Given the description of an element on the screen output the (x, y) to click on. 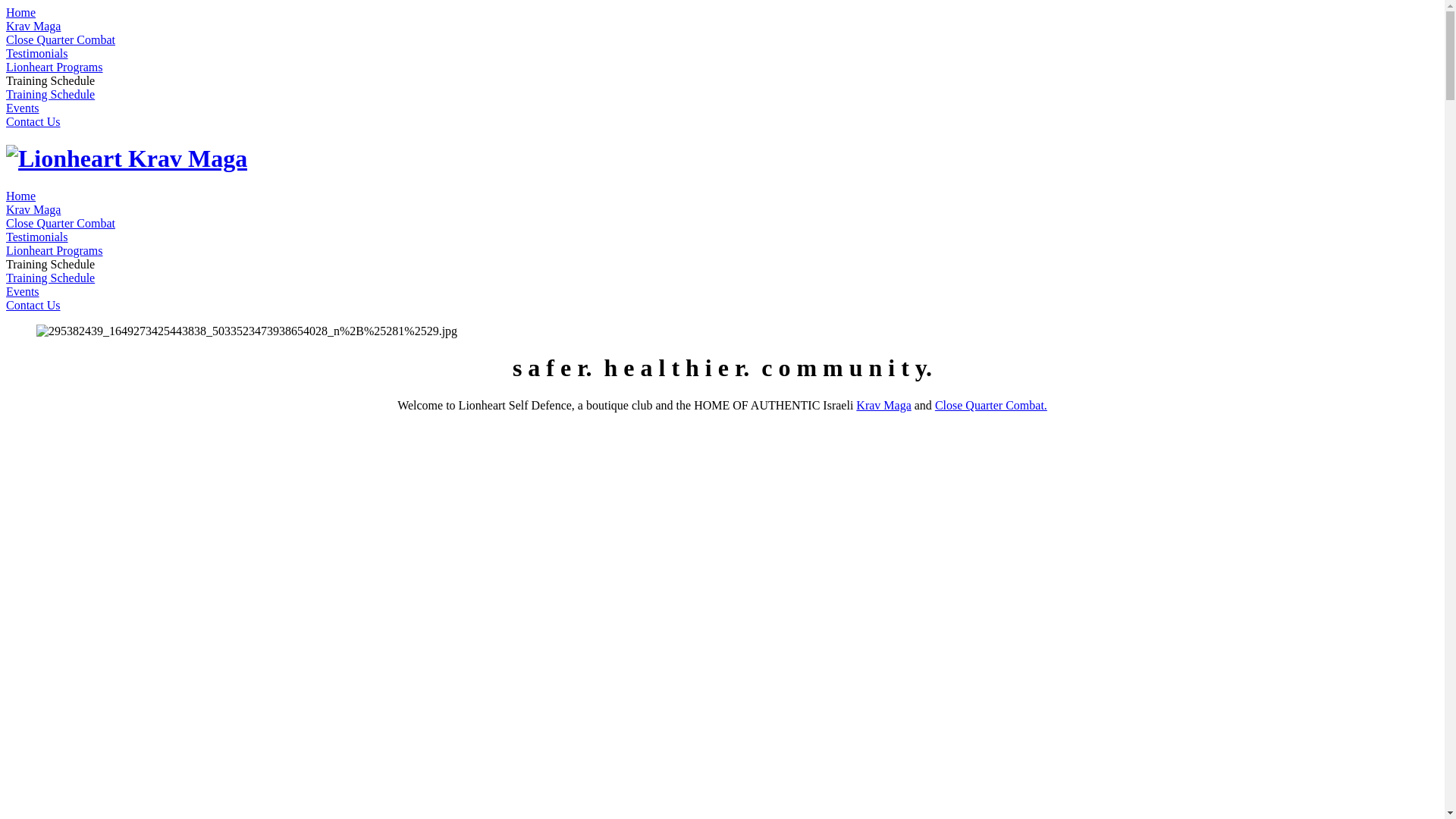
Close Quarter Combat Element type: text (60, 222)
Testimonials Element type: text (37, 236)
Contact Us Element type: text (33, 121)
Training Schedule Element type: text (50, 277)
Close Quarter Combat Element type: text (60, 39)
Krav Maga Element type: text (33, 209)
Lionheart Programs Element type: text (54, 66)
Events Element type: text (22, 291)
Testimonials Element type: text (37, 53)
Home Element type: text (20, 12)
Home Element type: text (20, 195)
Contact Us Element type: text (33, 304)
Events Element type: text (22, 107)
Krav Maga Element type: text (33, 25)
Lionheart Programs Element type: text (54, 250)
Training Schedule Element type: text (50, 93)
Krav Maga Element type: text (883, 404)
Close Quarter Combat. Element type: text (991, 404)
